Given the description of an element on the screen output the (x, y) to click on. 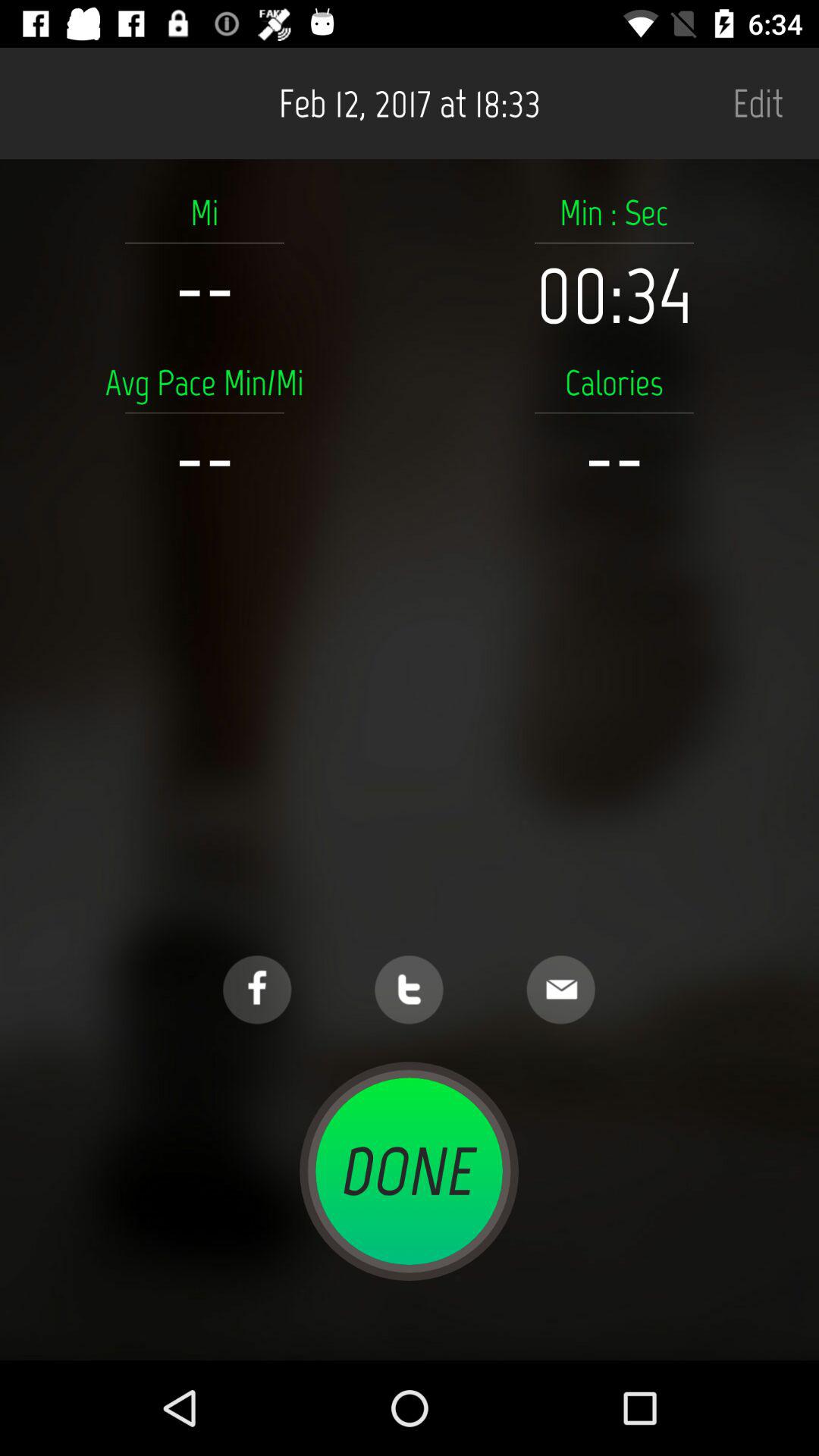
go to twitter page (409, 989)
